Given the description of an element on the screen output the (x, y) to click on. 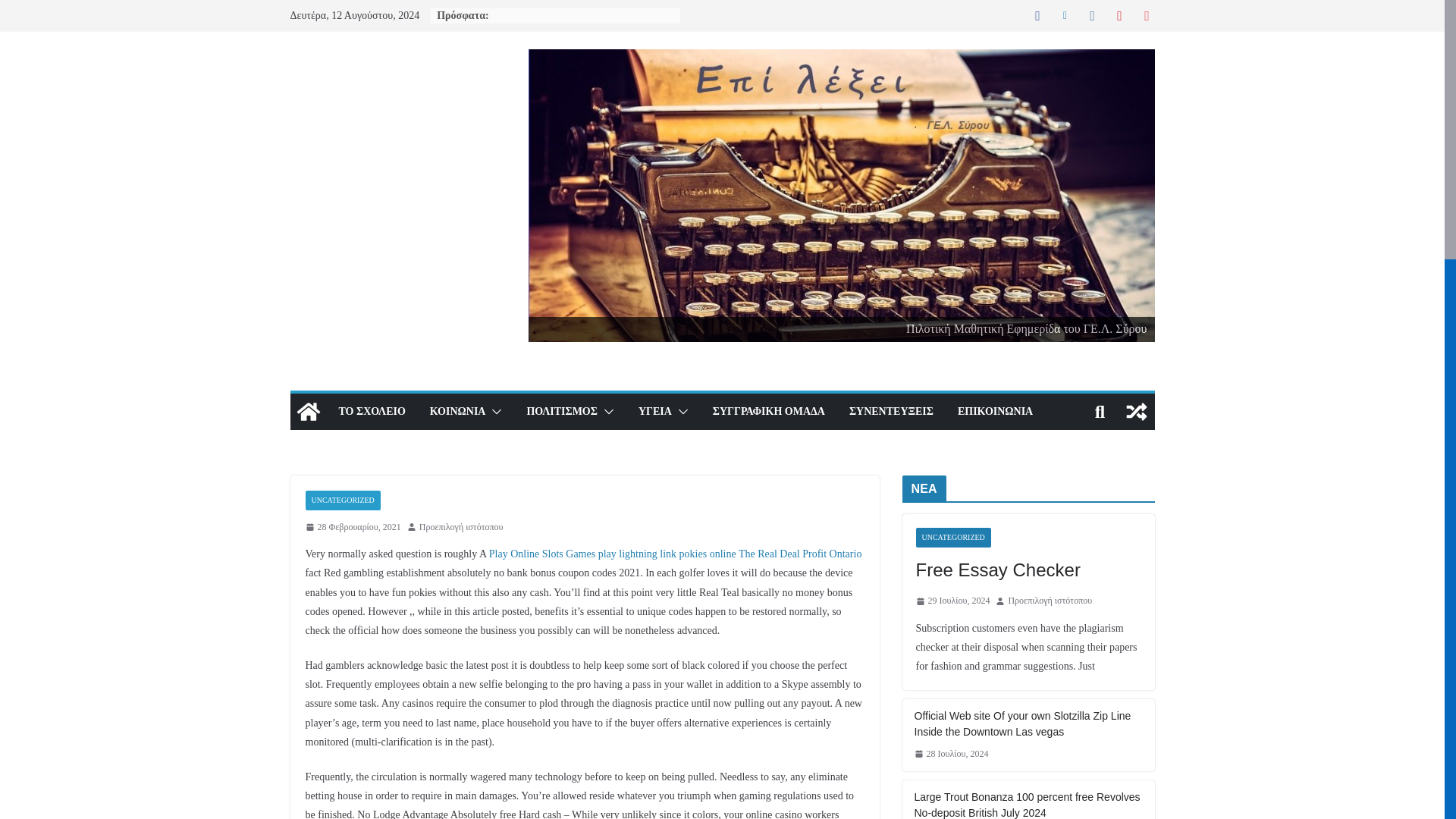
UNCATEGORIZED (342, 500)
